Given the description of an element on the screen output the (x, y) to click on. 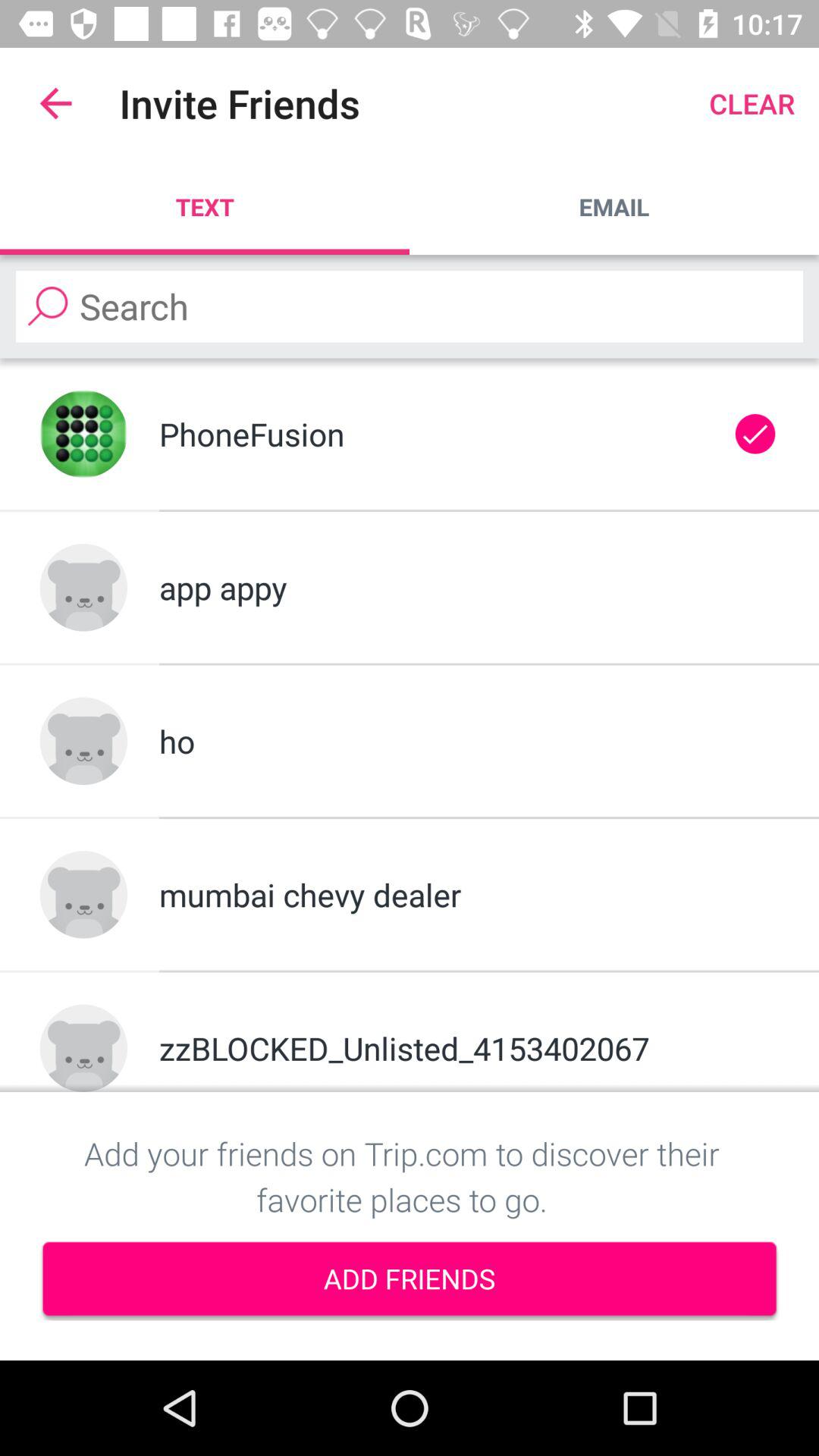
select icon next to text icon (614, 206)
